Given the description of an element on the screen output the (x, y) to click on. 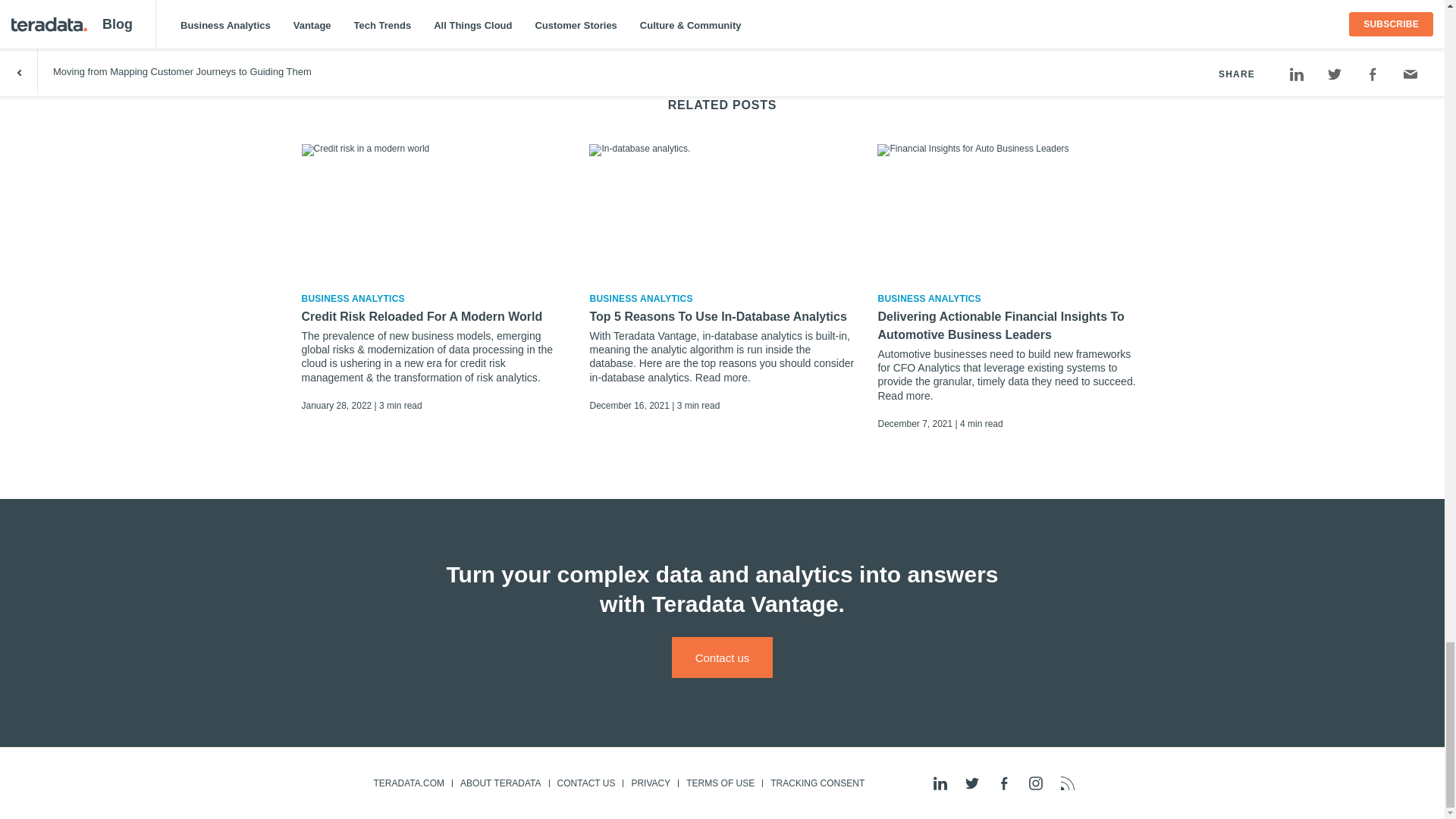
PRIVACY (650, 783)
Credit Risk Reloaded For A Modern World (434, 316)
Contact us (722, 657)
Top 5 Reasons To Use In-Database Analytics (721, 316)
In-database analytics. (721, 210)
ABOUT TERADATA (499, 783)
Open the Teradata Web Tracking Consent Center (816, 783)
CONTACT US (585, 783)
TERADATA.COM (408, 783)
Credit risk in a modern world (434, 210)
Financial Insights for Auto Business Leaders (1009, 210)
